Given the description of an element on the screen output the (x, y) to click on. 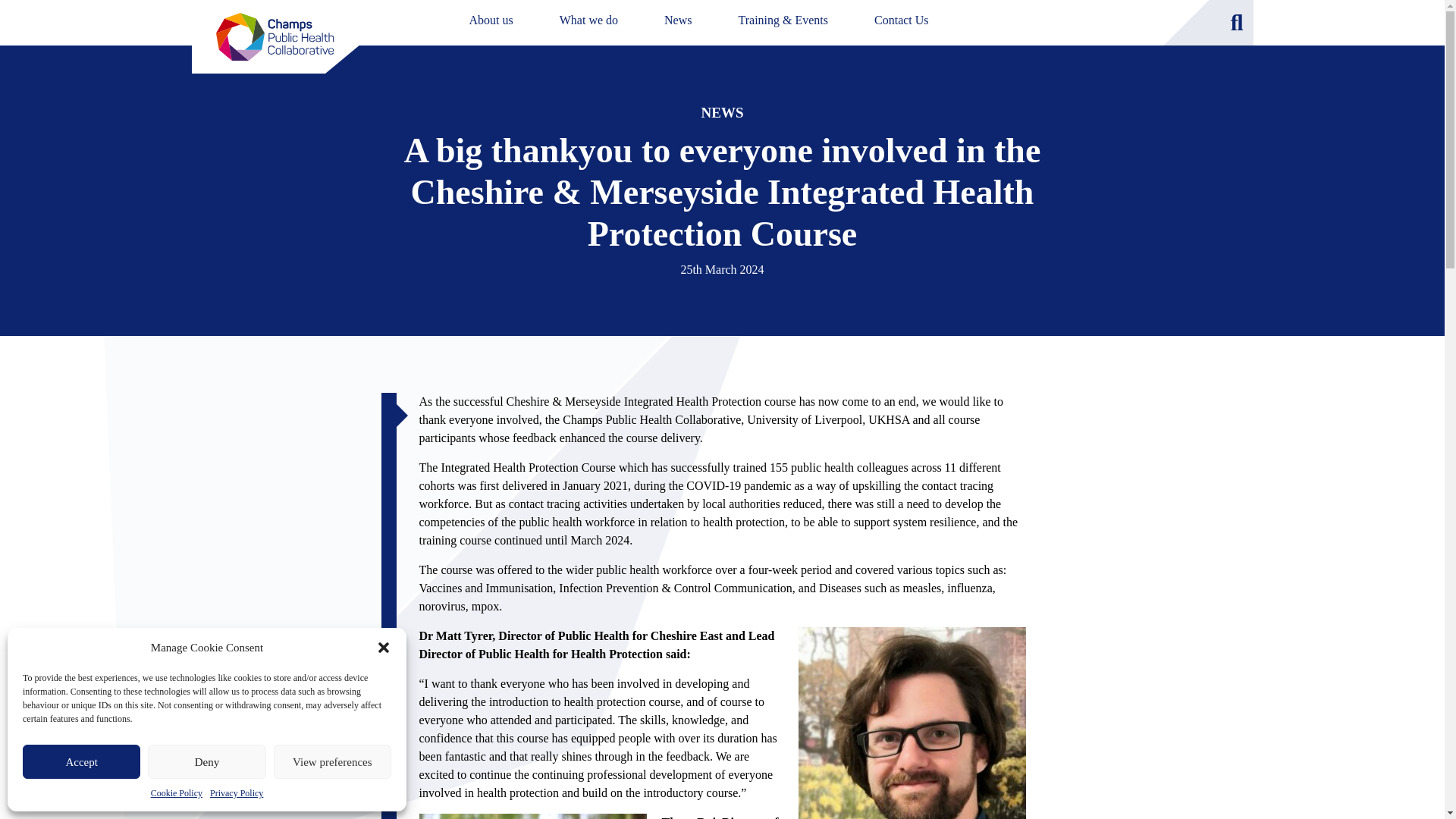
Cookie Policy (176, 793)
Go (1285, 21)
Deny (206, 761)
What we do (588, 19)
View preferences (332, 761)
Privacy Policy (236, 793)
Champs Public Health Collaborative (274, 36)
Accept (81, 761)
News (677, 19)
Contact Us (901, 19)
About us (490, 19)
